Given the description of an element on the screen output the (x, y) to click on. 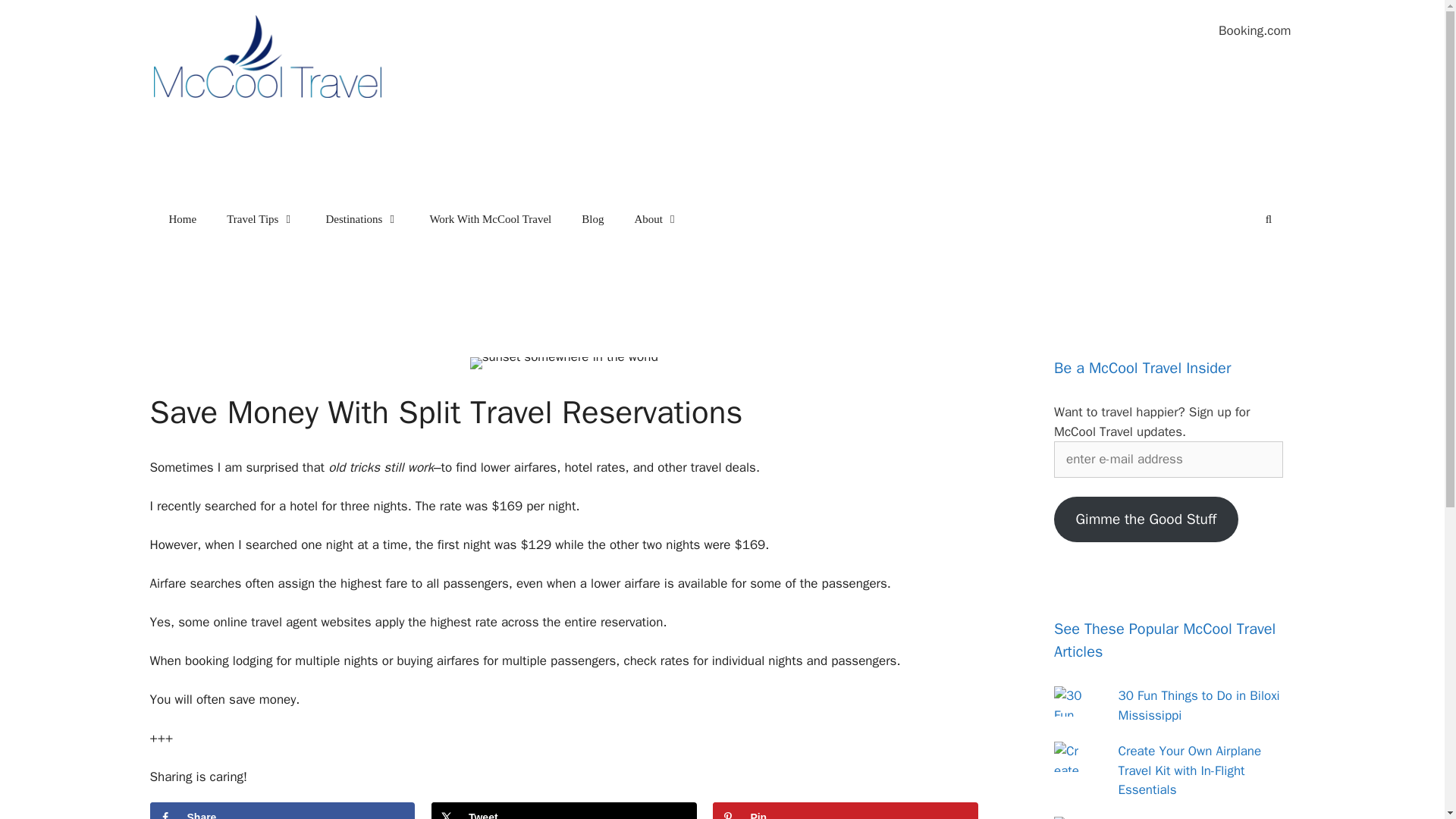
Share on Facebook (281, 810)
Share on X (563, 810)
Booking.com (1254, 30)
30 Fun Things to Do in Biloxi Mississippi (1198, 705)
Save to Pinterest (845, 810)
